Given the description of an element on the screen output the (x, y) to click on. 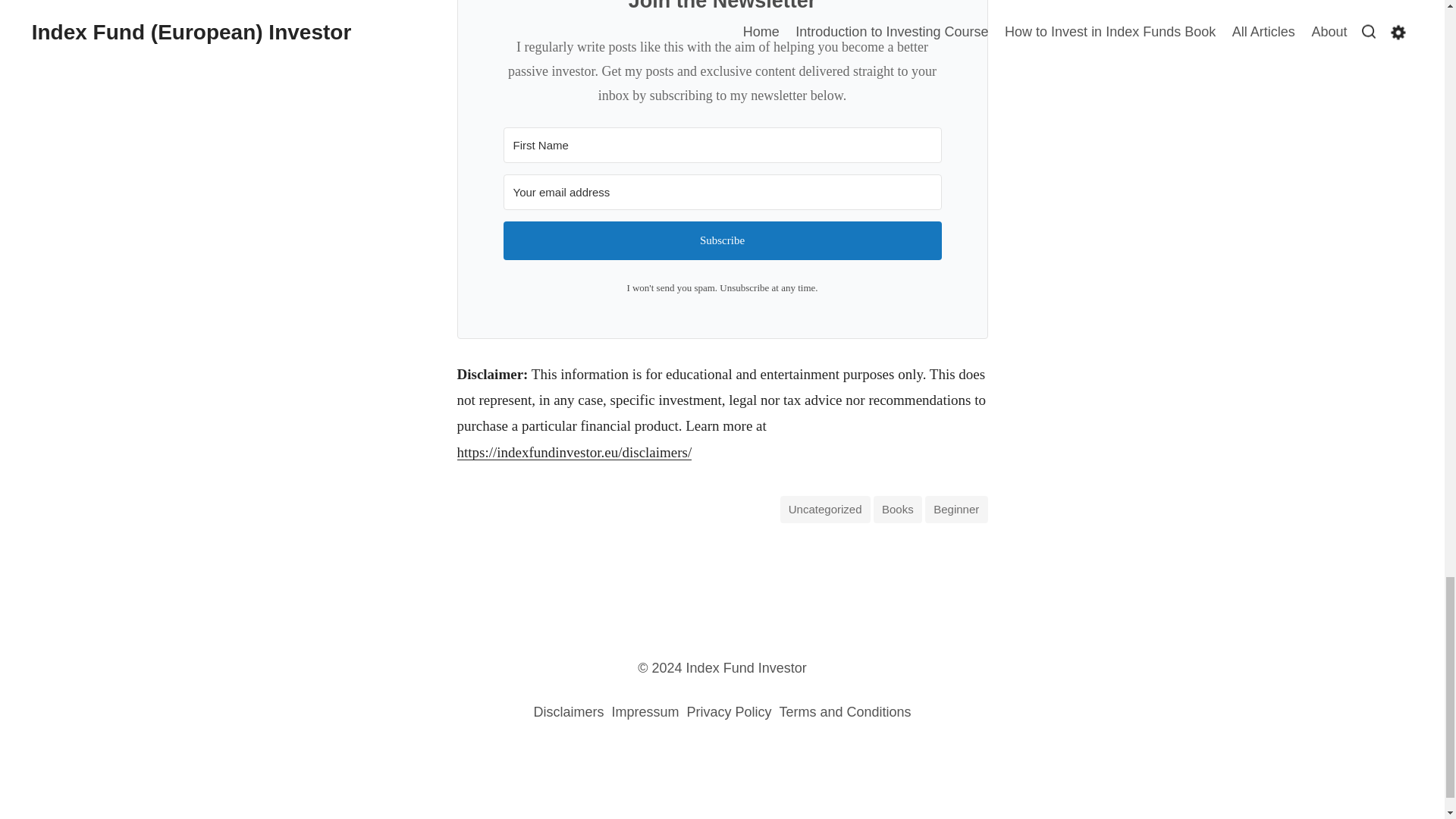
Uncategorized (825, 509)
Beginner (956, 509)
Books (897, 509)
Subscribe (722, 240)
